Given the description of an element on the screen output the (x, y) to click on. 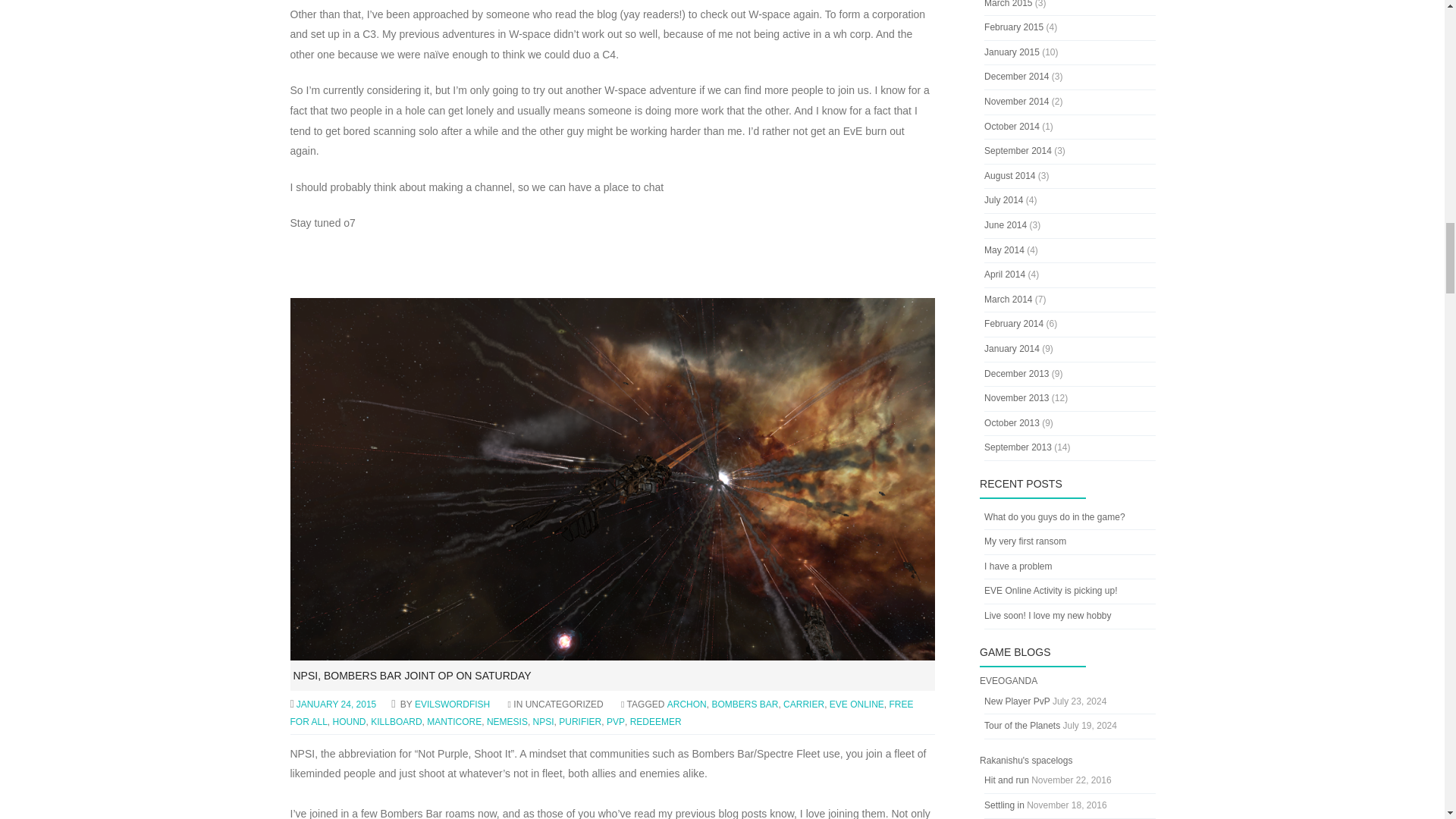
Permalink to NPSI, Bombers Bar joint op on Saturday (411, 675)
23:07 (339, 704)
View all posts by EvilSwordfish (451, 704)
